Given the description of an element on the screen output the (x, y) to click on. 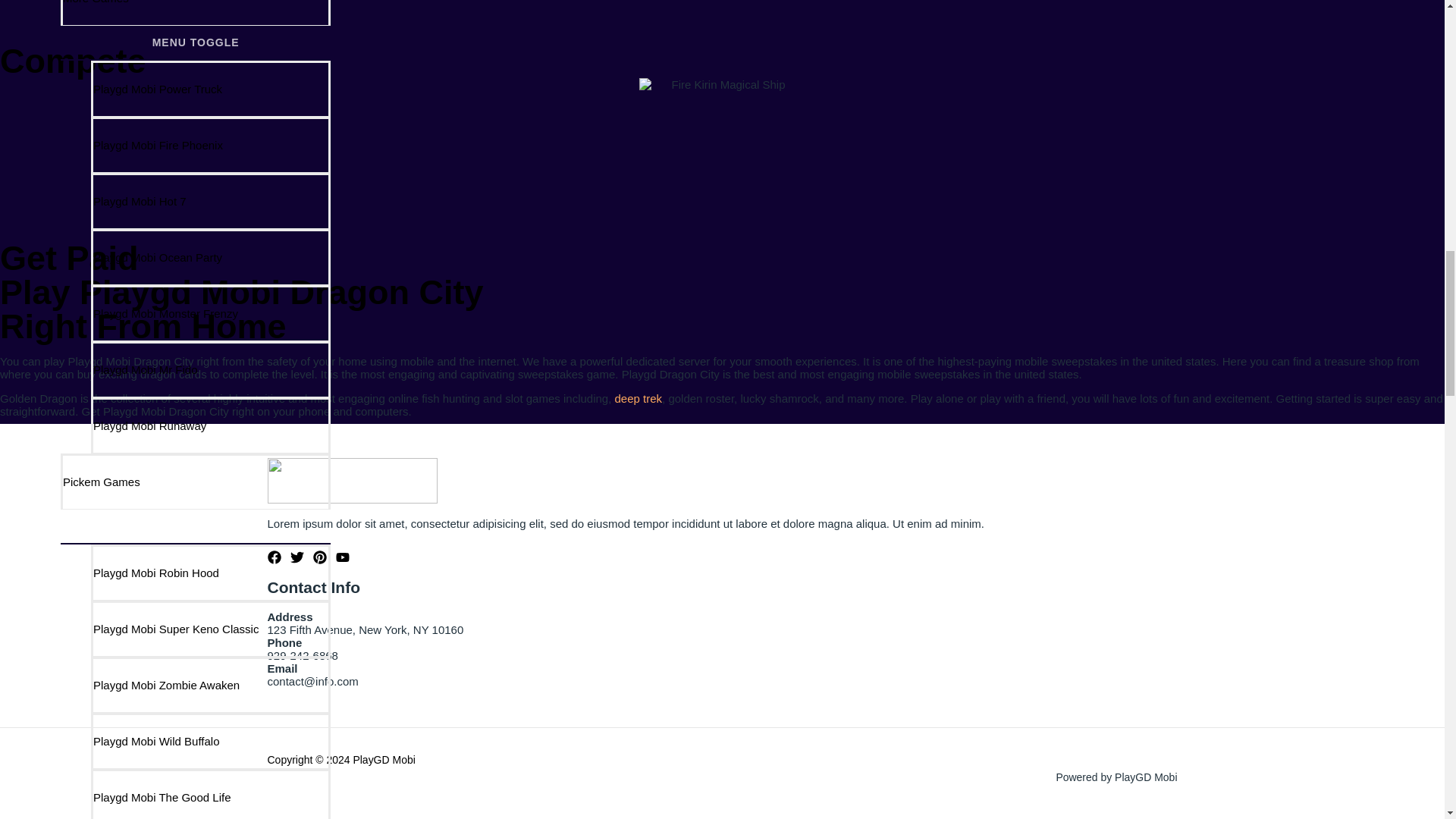
Playgd Mobi Mr Fido (210, 369)
Playgd Mobi Super Keno Classic (210, 628)
Pickem Games (195, 481)
MENU TOGGLE (195, 41)
Playgd Mobi Ocean Party (210, 257)
MENU TOGGLE (195, 525)
Playgd Mobi Robin Hood (210, 572)
Playgd Mobi Hot 7 (210, 200)
Playgd Mobi Fire Phoenix (210, 144)
Playgd Mobi Monster Frenzy (210, 313)
